Given the description of an element on the screen output the (x, y) to click on. 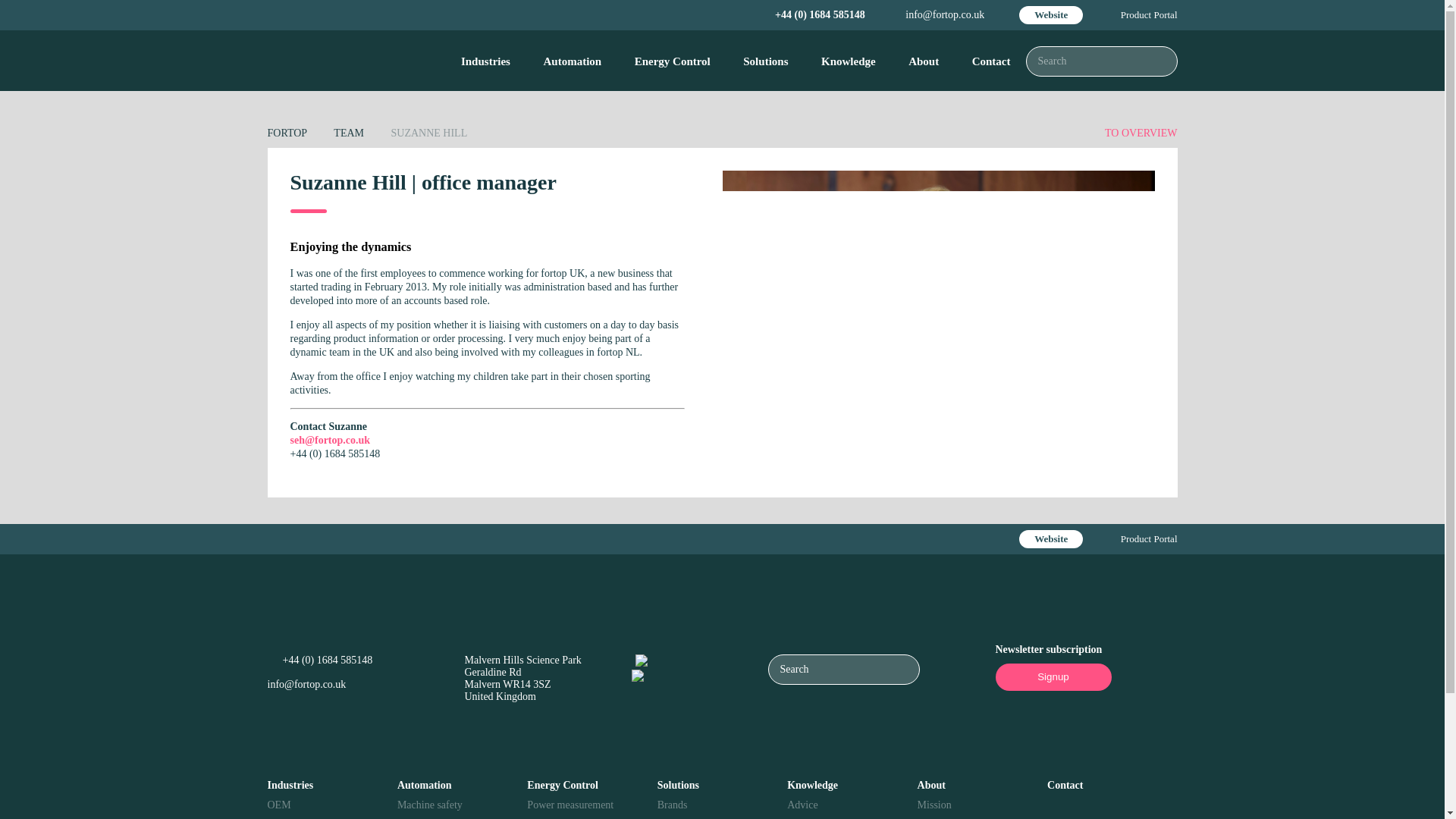
Signup (1052, 677)
About (923, 60)
Solutions (765, 60)
Energy Control (672, 60)
Knowledge (848, 60)
Product Portal (1149, 15)
Industries (485, 60)
Automation (571, 60)
